Given the description of an element on the screen output the (x, y) to click on. 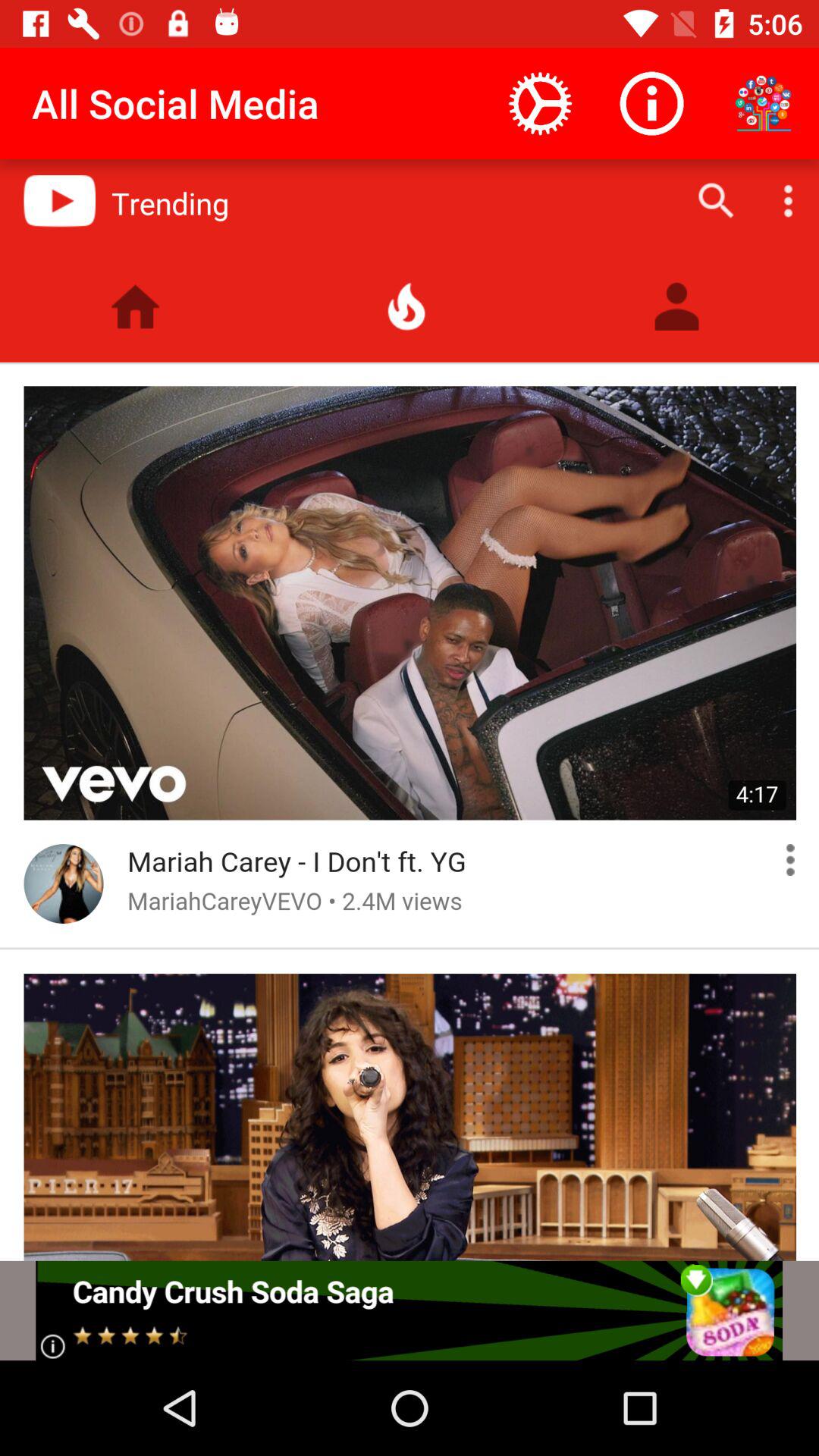
trending videos (409, 709)
